Given the description of an element on the screen output the (x, y) to click on. 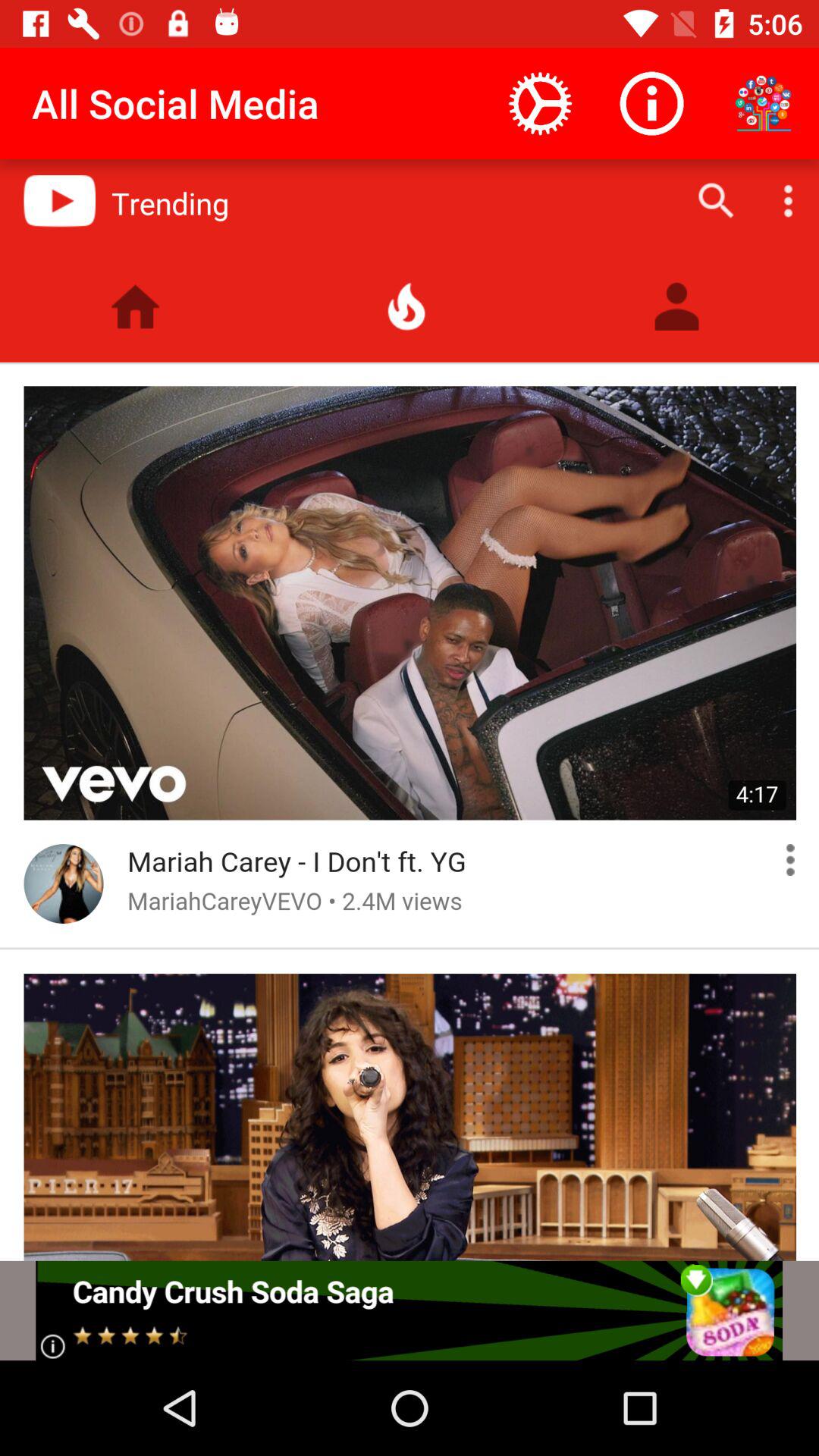
trending videos (409, 709)
